Given the description of an element on the screen output the (x, y) to click on. 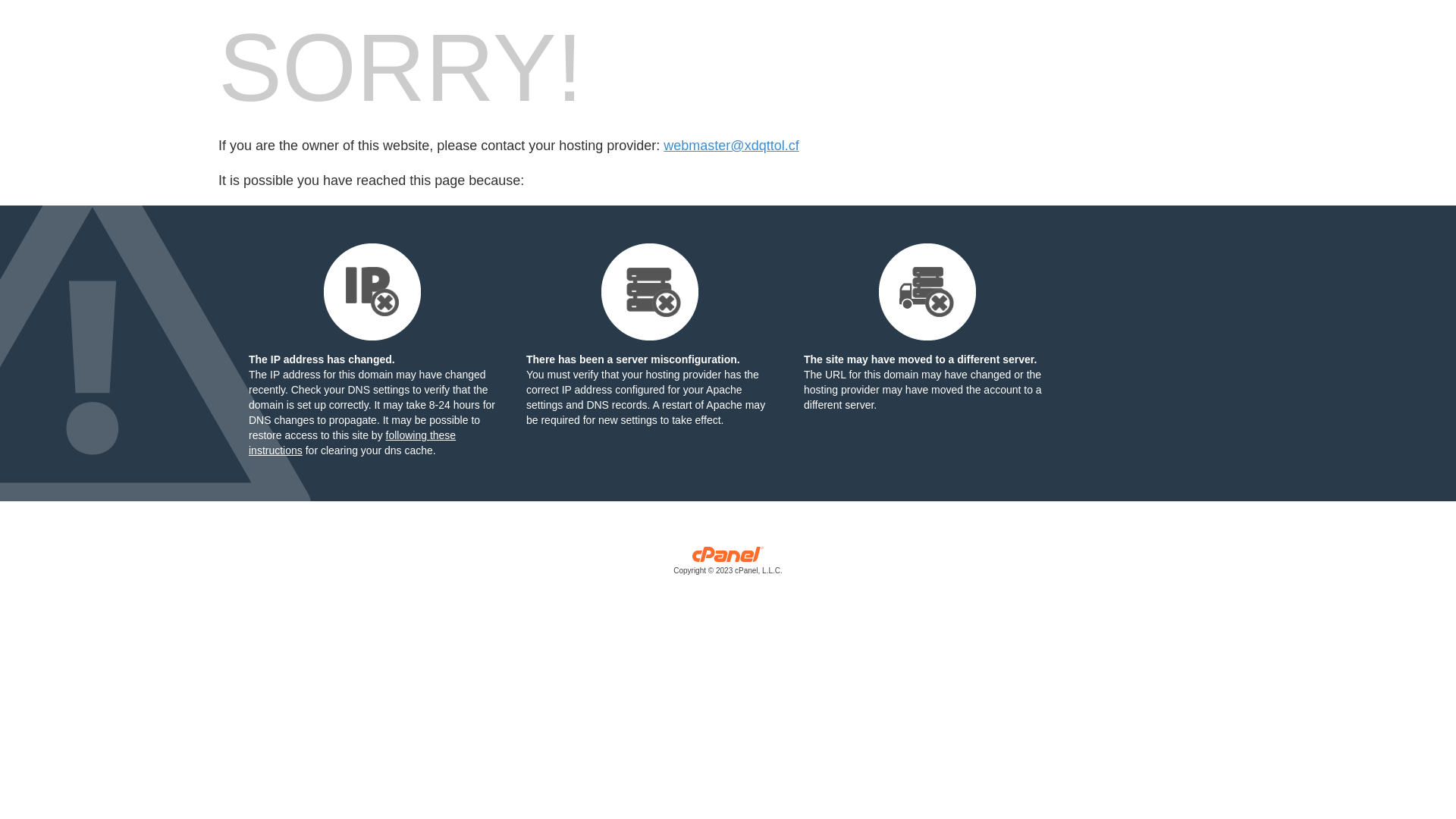
following these instructions Element type: text (351, 442)
webmaster@xdqttol.cf Element type: text (730, 145)
